Given the description of an element on the screen output the (x, y) to click on. 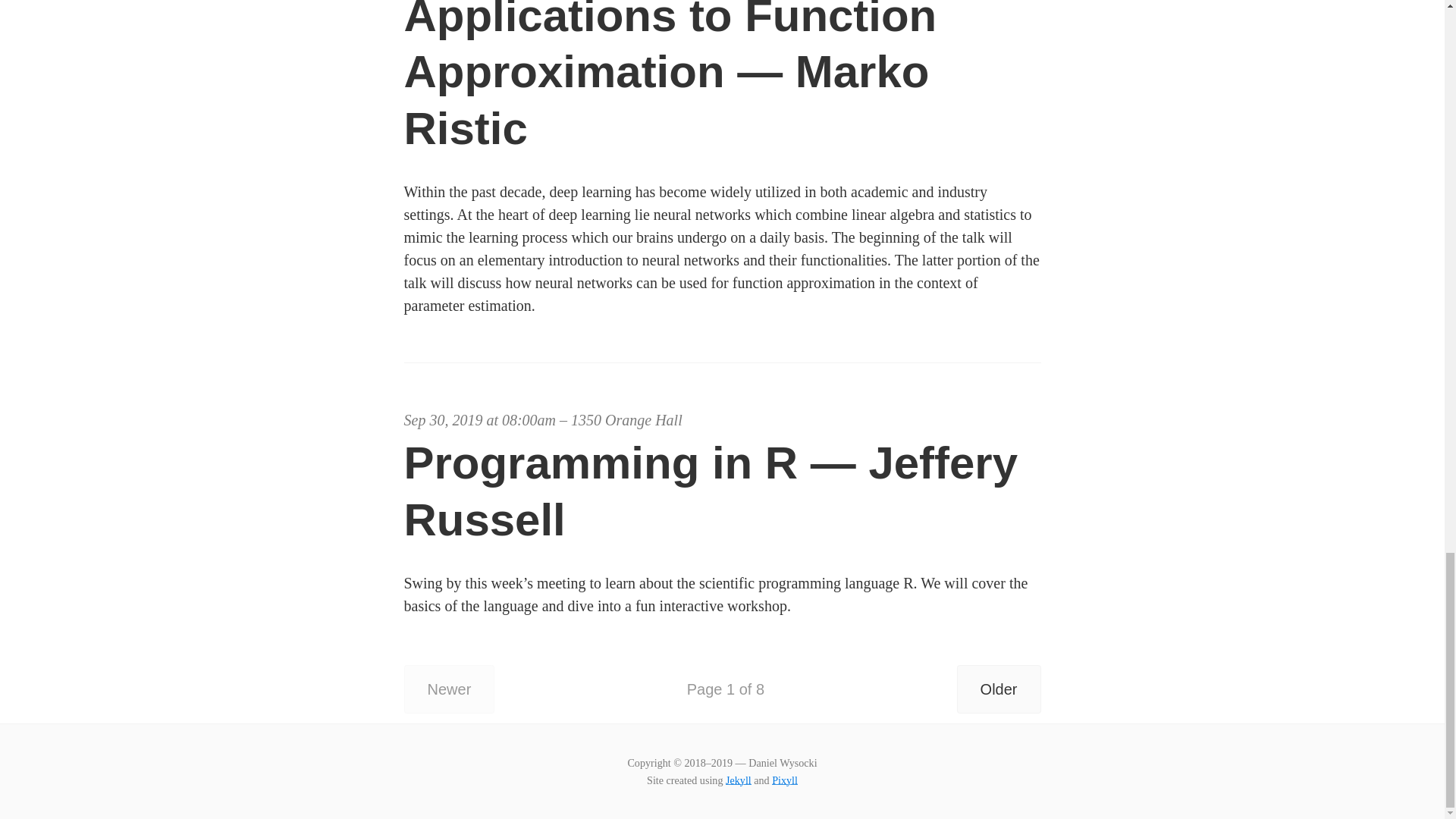
Pixyll (784, 776)
Jekyll (738, 775)
Older (998, 684)
